Given the description of an element on the screen output the (x, y) to click on. 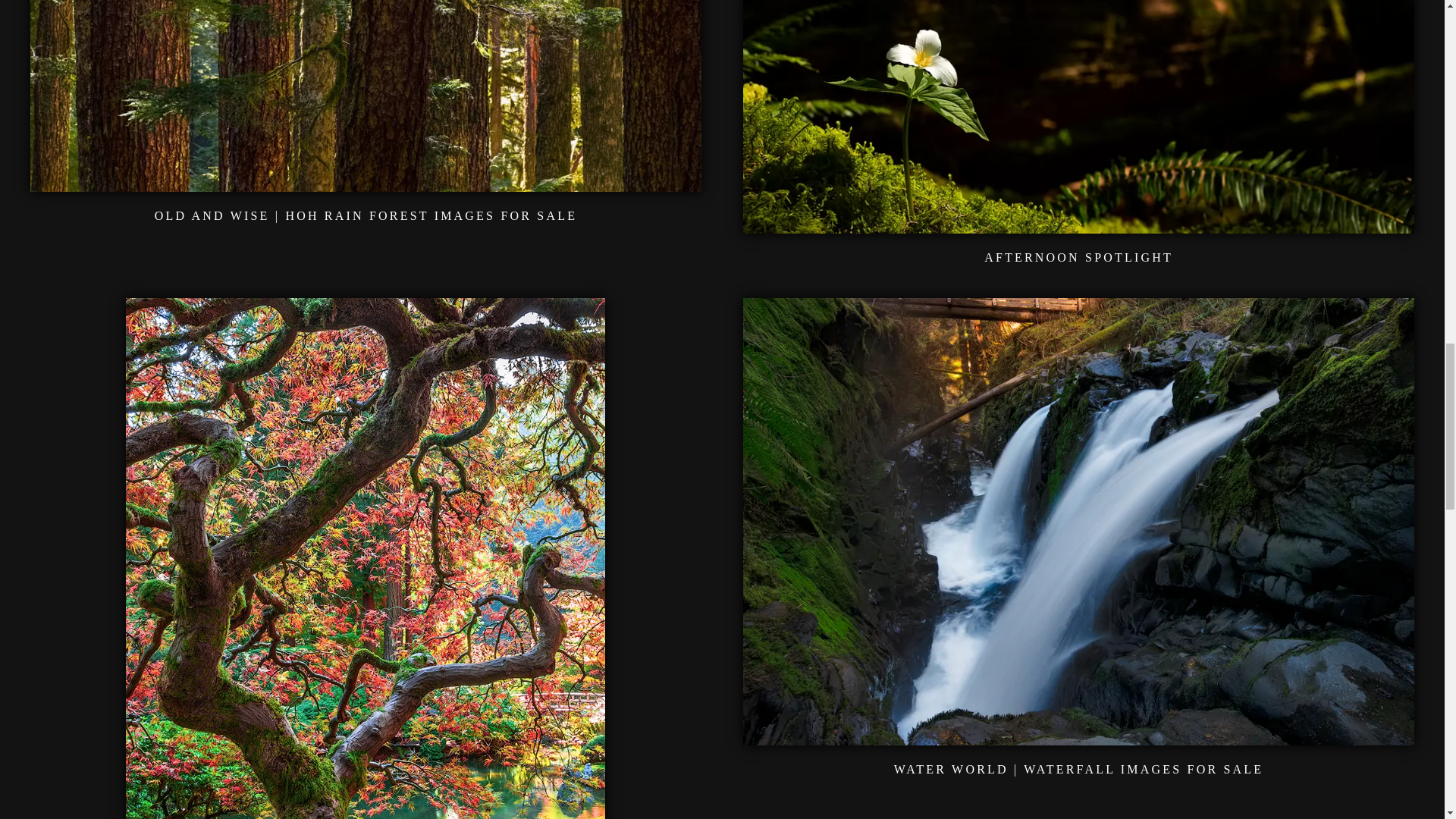
Afternoon Spotlight  (1077, 223)
AFTERNOON SPOTLIGHT (1078, 256)
Afternoon Spotlight  (1078, 256)
